Given the description of an element on the screen output the (x, y) to click on. 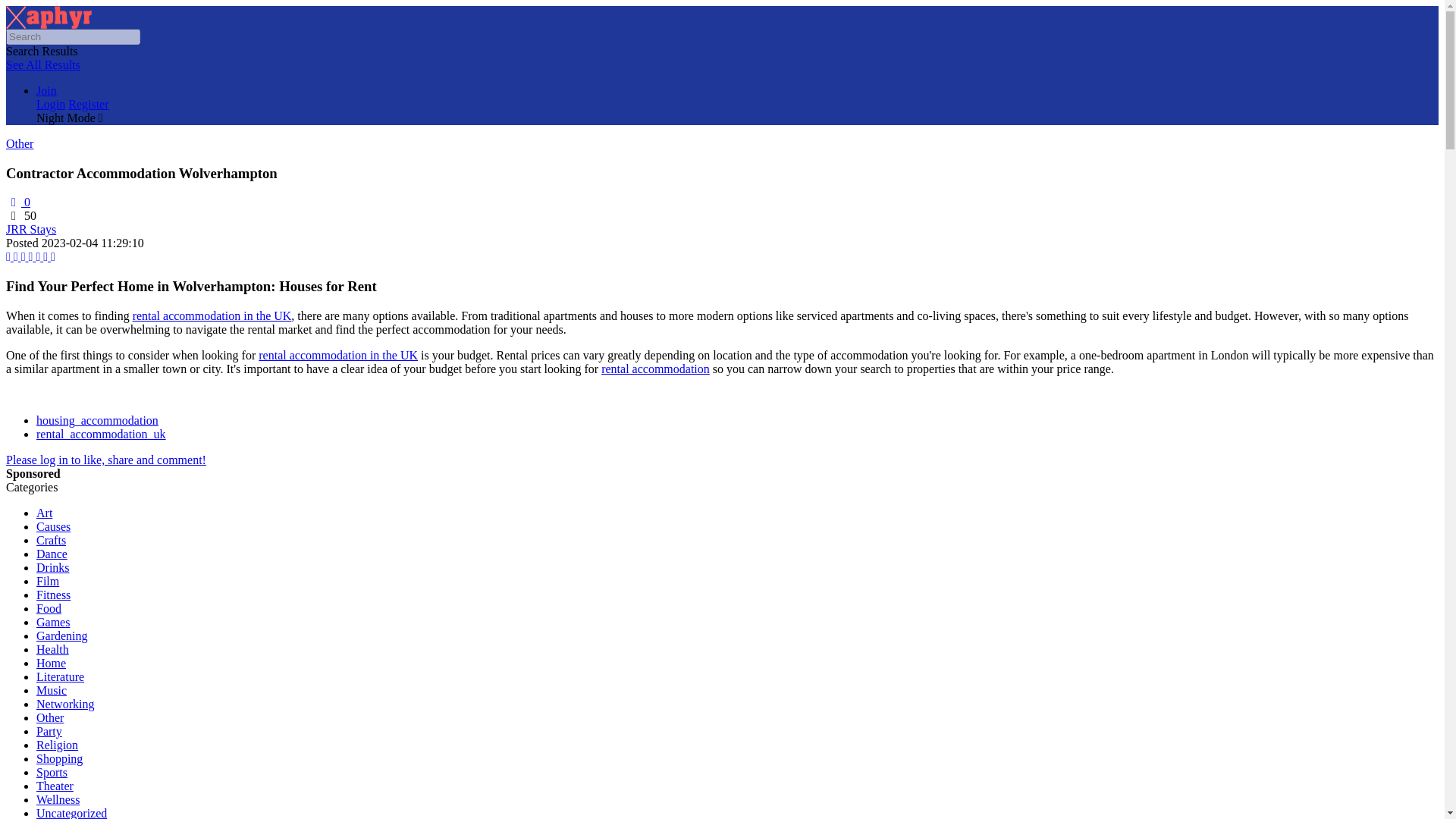
Drinks (52, 567)
Other (19, 143)
Games (52, 621)
See All Results (42, 64)
Music (51, 689)
Gardening (61, 635)
Fitness (52, 594)
Film (47, 581)
Please log in to like, share and comment! (105, 459)
Crafts (50, 540)
rental accommodation (655, 368)
Join (46, 90)
Religion (57, 744)
Login (50, 103)
Home (50, 662)
